Given the description of an element on the screen output the (x, y) to click on. 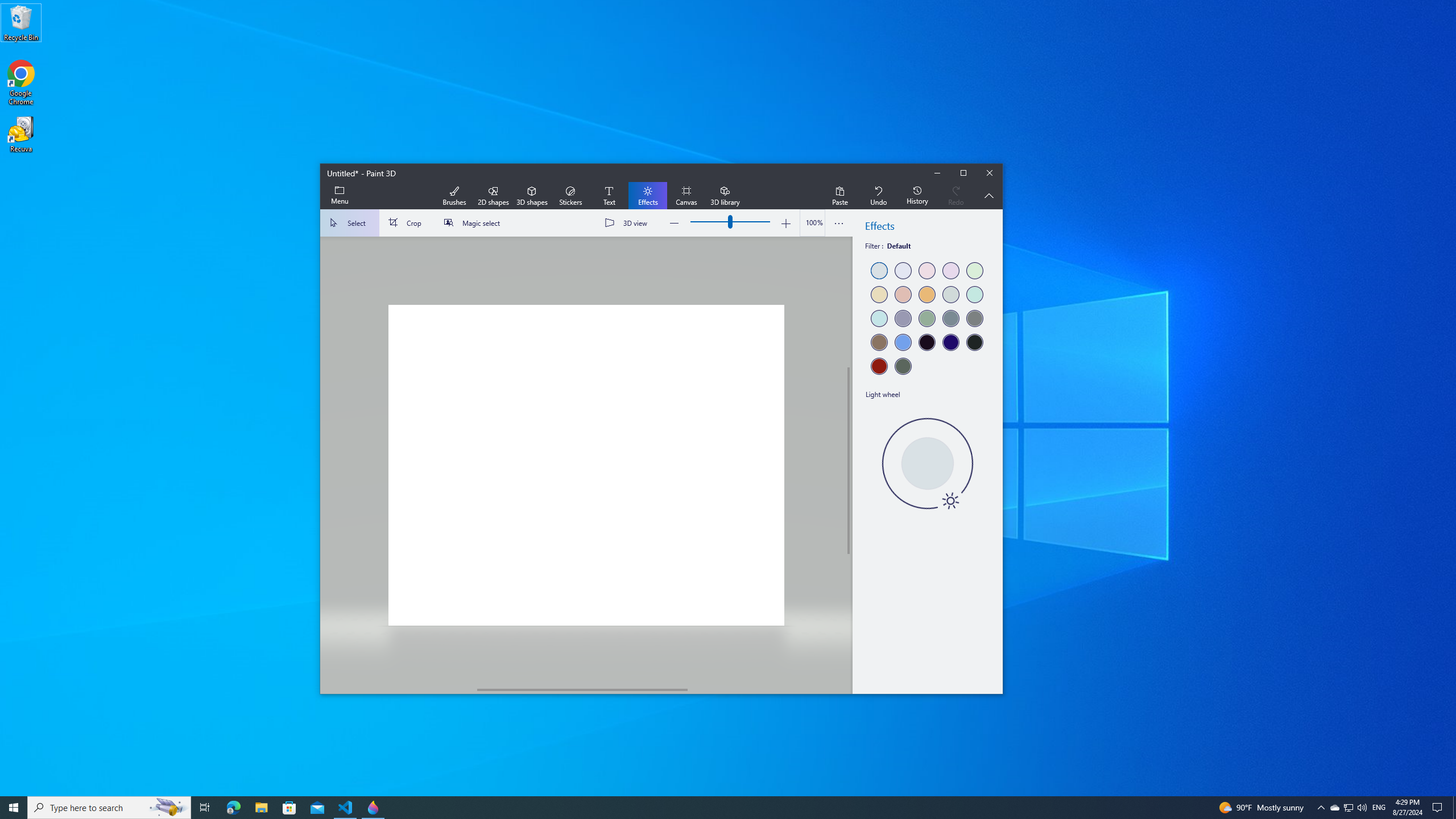
Recuva (21, 133)
Visual Studio Code - 1 running window (345, 807)
Microsoft Store (289, 807)
Tray Input Indicator - English (United States) (1378, 807)
Running applications (706, 807)
Show desktop (1454, 807)
File Explorer (261, 807)
Microsoft Edge (233, 807)
Start (13, 807)
Q2790: 100% (1361, 807)
Recycle Bin (21, 22)
